Given the description of an element on the screen output the (x, y) to click on. 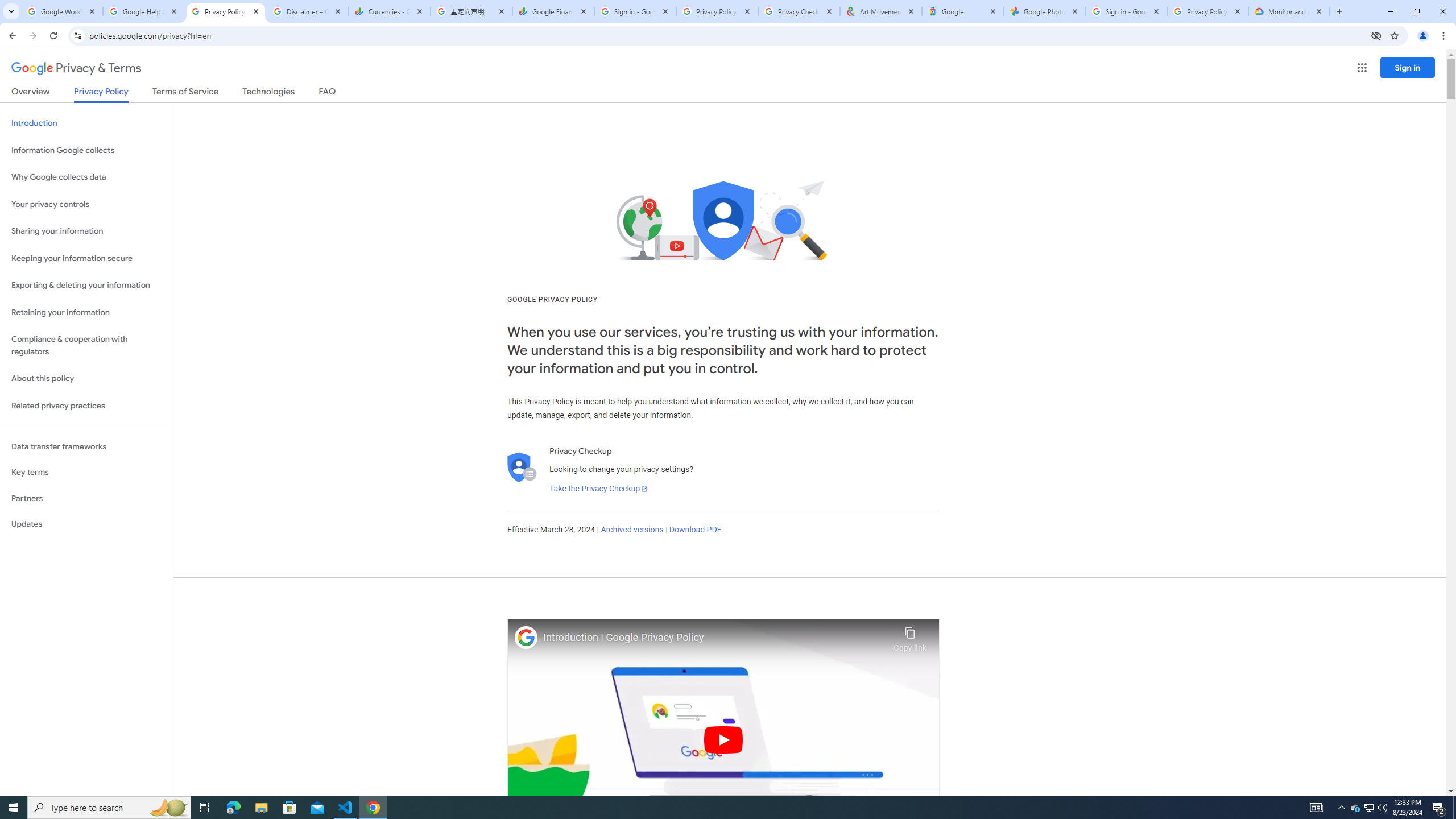
Google Workspace Admin Community (61, 11)
Play (723, 739)
Google (963, 11)
Information Google collects (86, 150)
Keeping your information secure (86, 258)
About this policy (86, 379)
Introduction | Google Privacy Policy (715, 637)
Your privacy controls (86, 204)
Take the Privacy Checkup (597, 488)
Related privacy practices (86, 405)
